Given the description of an element on the screen output the (x, y) to click on. 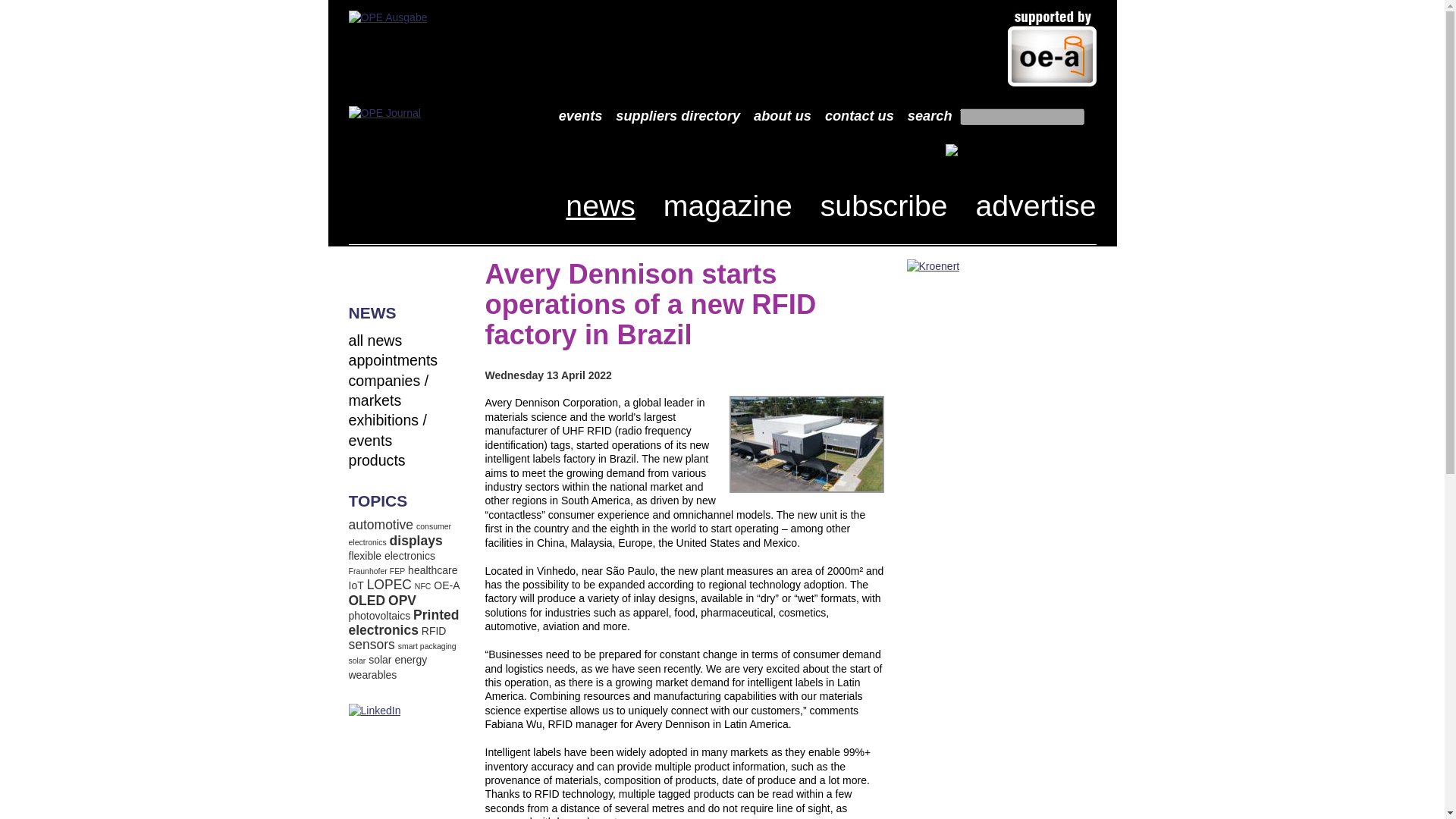
search (929, 116)
news (600, 205)
Advertise (1035, 205)
Facebook (360, 271)
flexible electronics (392, 555)
appointments (393, 360)
automotive (381, 524)
suppliers directory (677, 116)
products (377, 460)
consumer electronics (400, 533)
Fraunhofer FEP (377, 570)
events (580, 116)
NFC (422, 585)
